Given the description of an element on the screen output the (x, y) to click on. 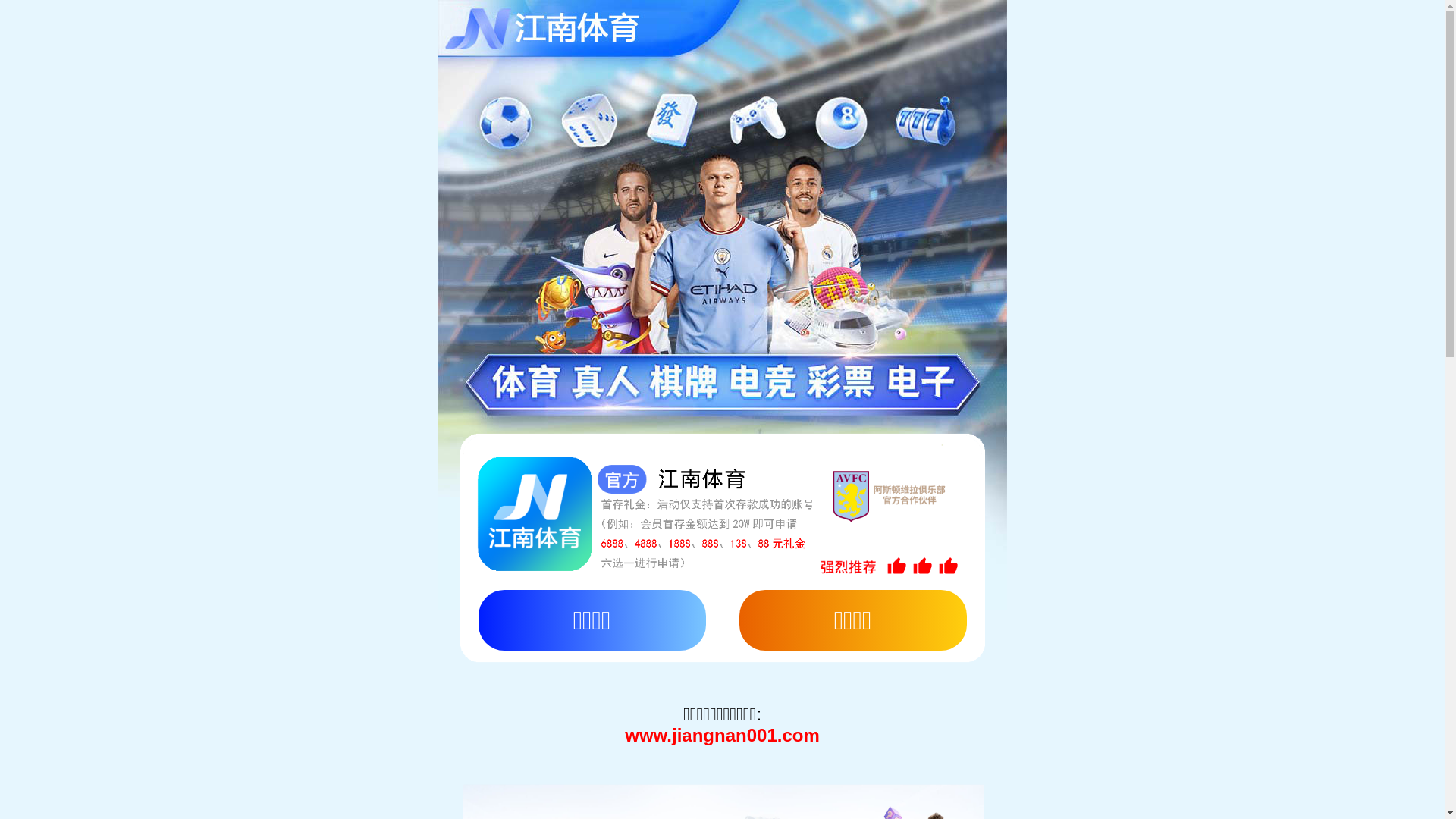
2 Element type: text (727, 592)
3 Element type: text (773, 592)
1 Element type: text (682, 592)
